Given the description of an element on the screen output the (x, y) to click on. 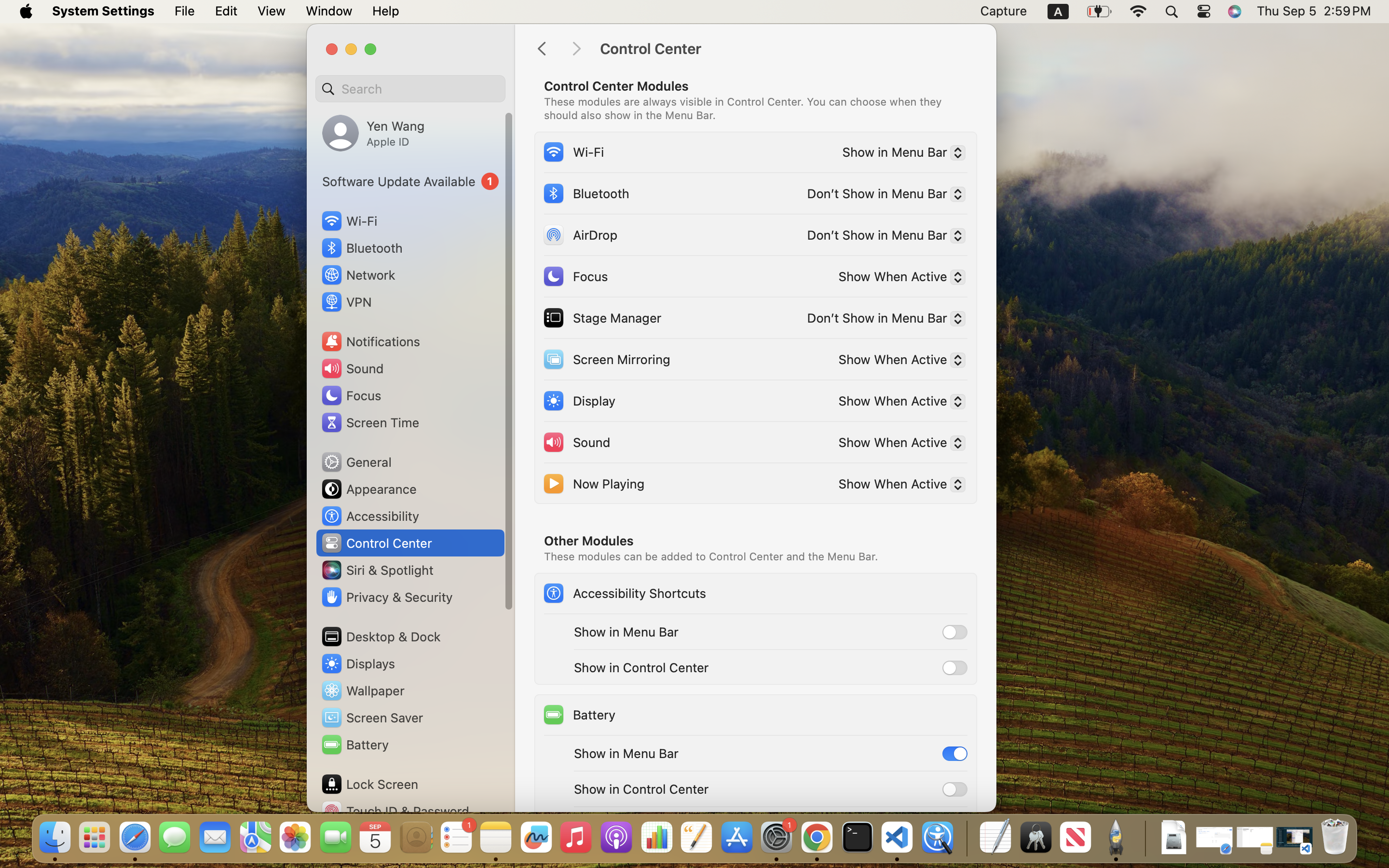
VPN Element type: AXStaticText (345, 301)
Lock Screen Element type: AXStaticText (369, 783)
0.4285714328289032 Element type: AXDockItem (965, 837)
Stage Manager Element type: AXStaticText (601, 316)
Now Playing Element type: AXStaticText (593, 482)
